Given the description of an element on the screen output the (x, y) to click on. 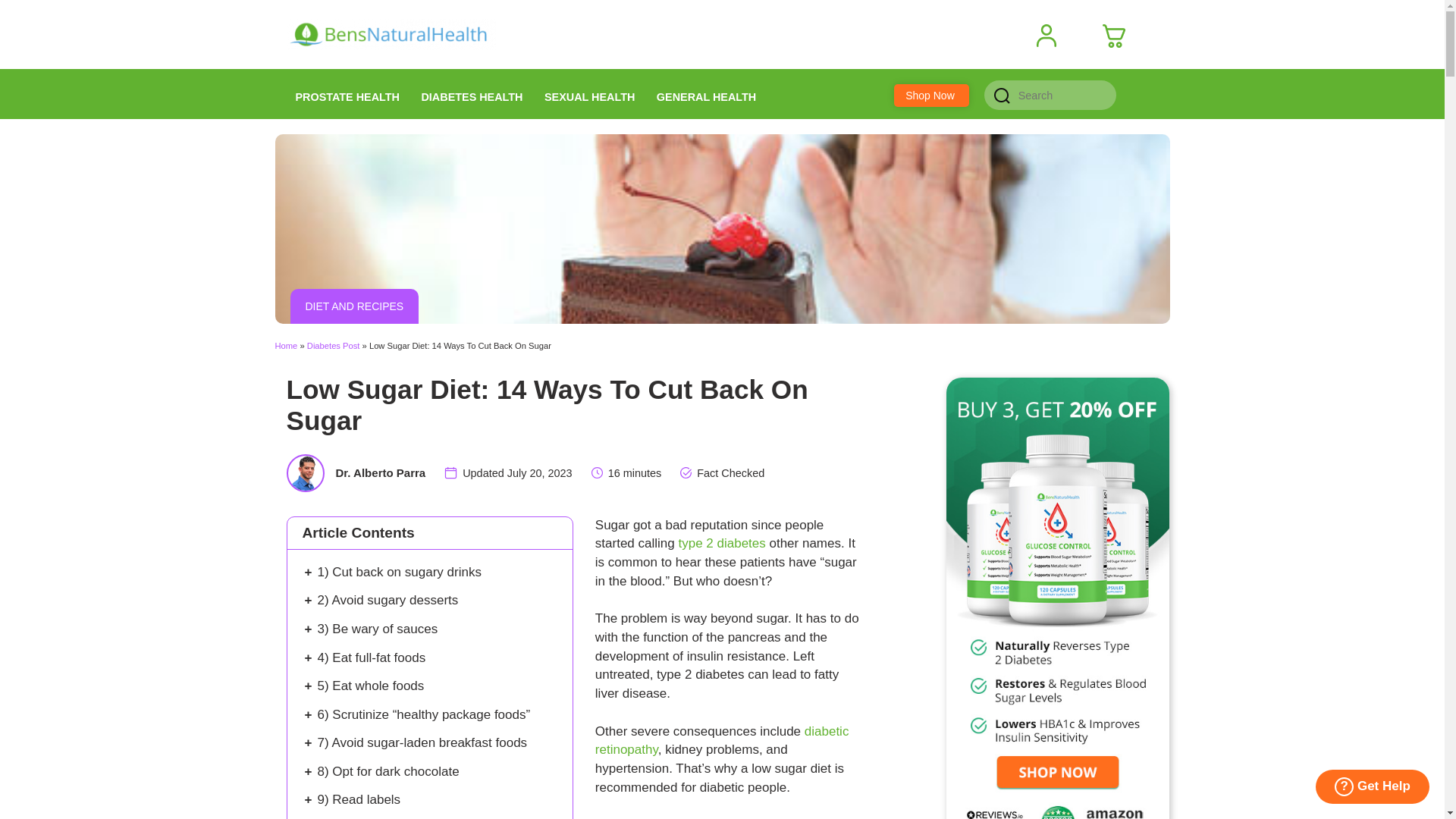
Account (1053, 35)
Dr. Alberto Parra (379, 472)
My Cart (1118, 35)
SEXUAL HEALTH (589, 93)
DIABETES HEALTH (471, 93)
Diabetes Post (333, 345)
PROSTATE HEALTH (347, 93)
GENERAL HEALTH (706, 93)
Shop Now (930, 95)
Home (286, 345)
